Given the description of an element on the screen output the (x, y) to click on. 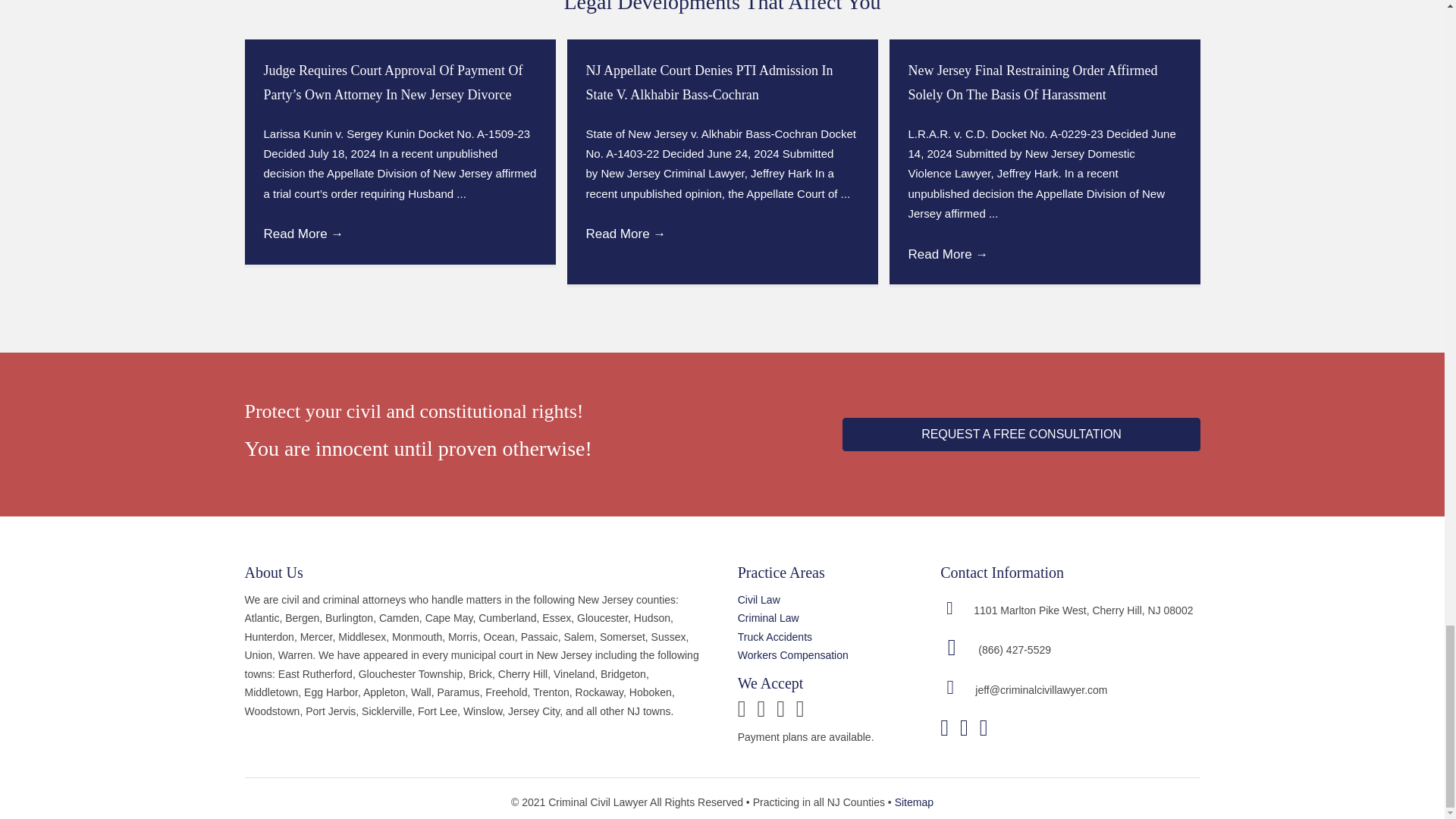
Read More (303, 233)
Read More (625, 233)
Read More (948, 254)
